Given the description of an element on the screen output the (x, y) to click on. 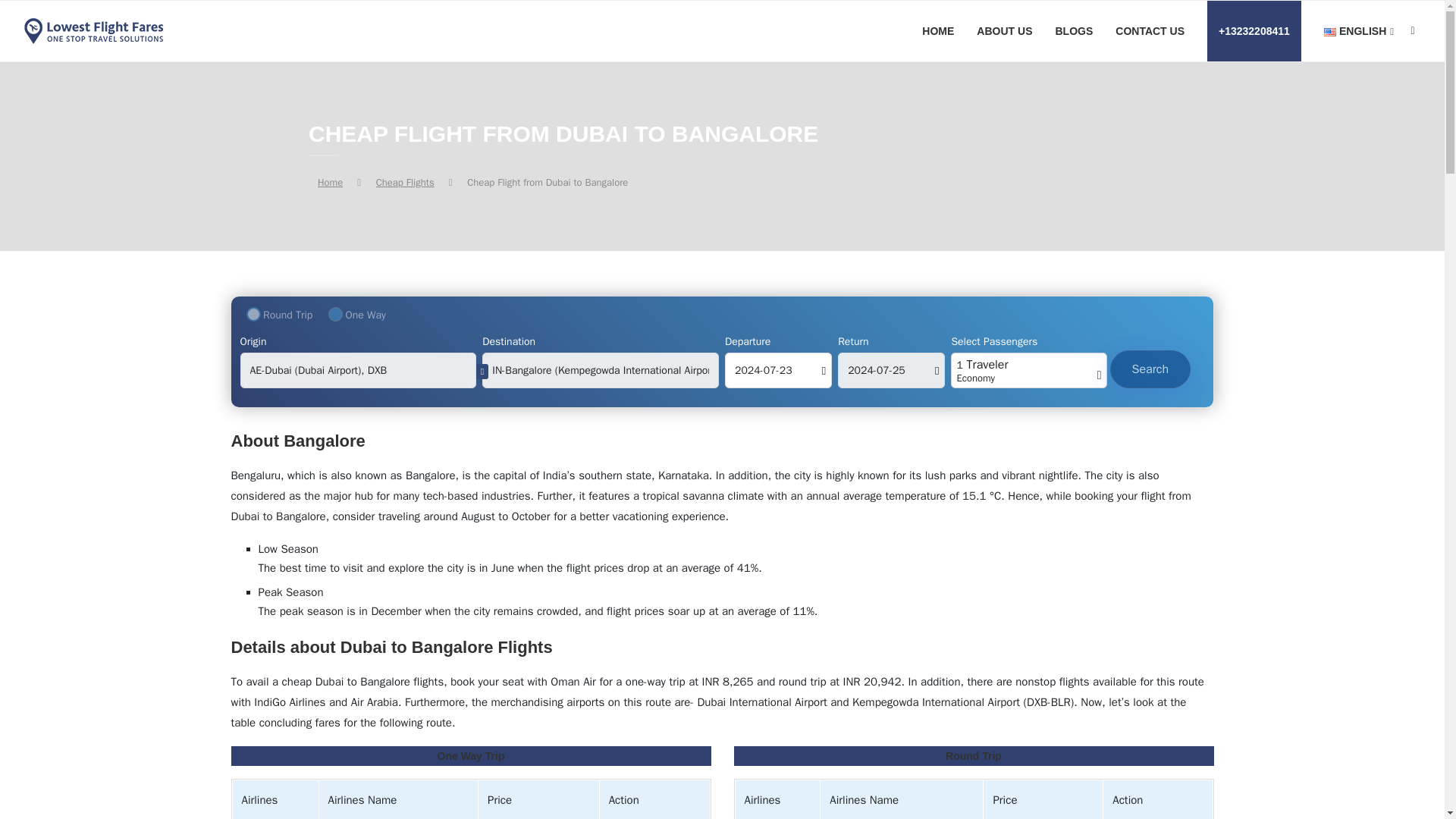
2024-07-25 (891, 370)
Cheap Flights (404, 182)
Search (1150, 369)
CONTACT US (1150, 30)
Home (329, 182)
round (253, 314)
2024-07-23 (778, 370)
Interchange Locations (481, 370)
oneway (335, 314)
ABOUT US (1004, 30)
HOME (937, 30)
BLOGS (1073, 30)
ENGLISH (1358, 31)
